Given the description of an element on the screen output the (x, y) to click on. 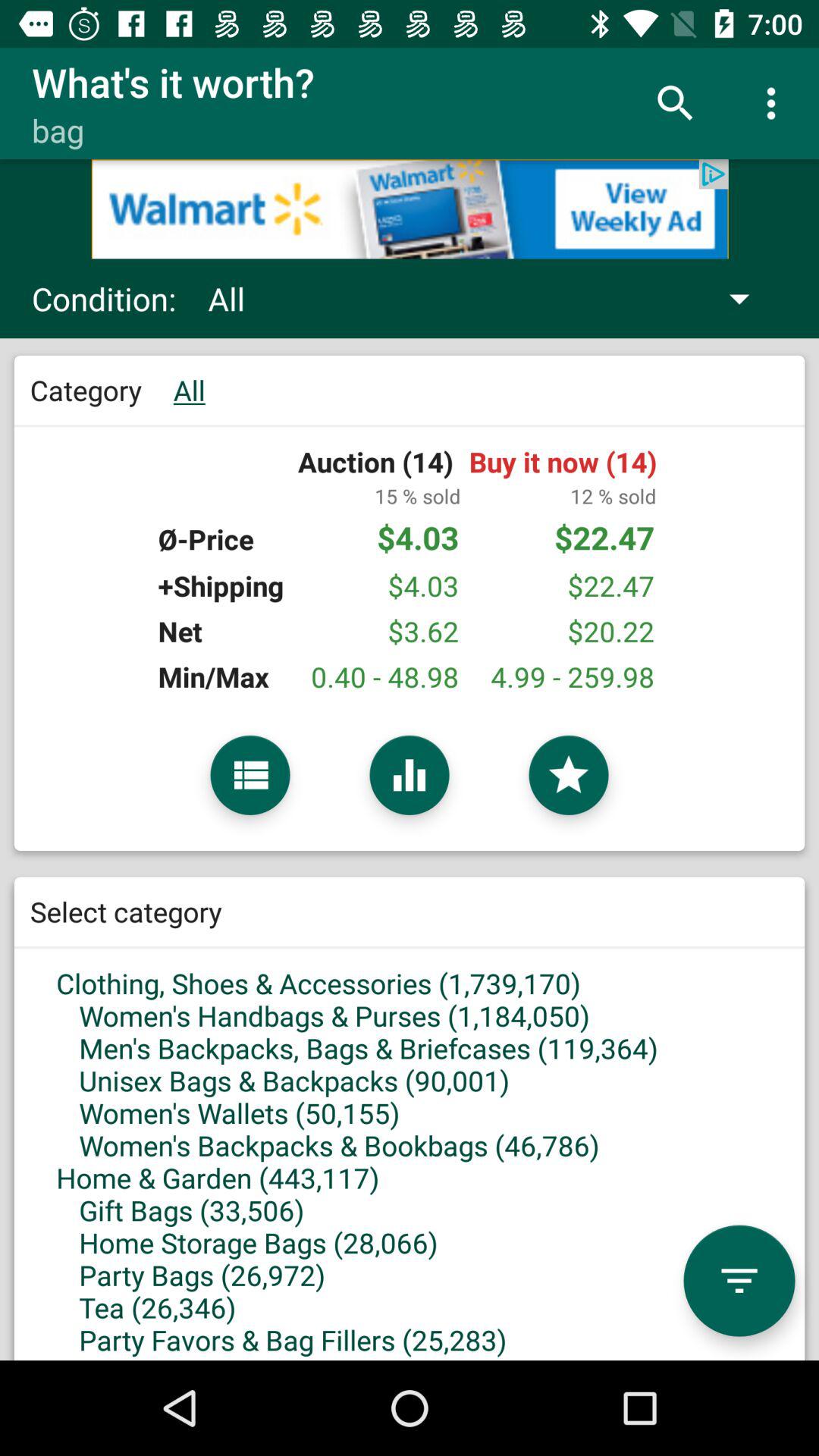
to mark it favorite (568, 774)
